Given the description of an element on the screen output the (x, y) to click on. 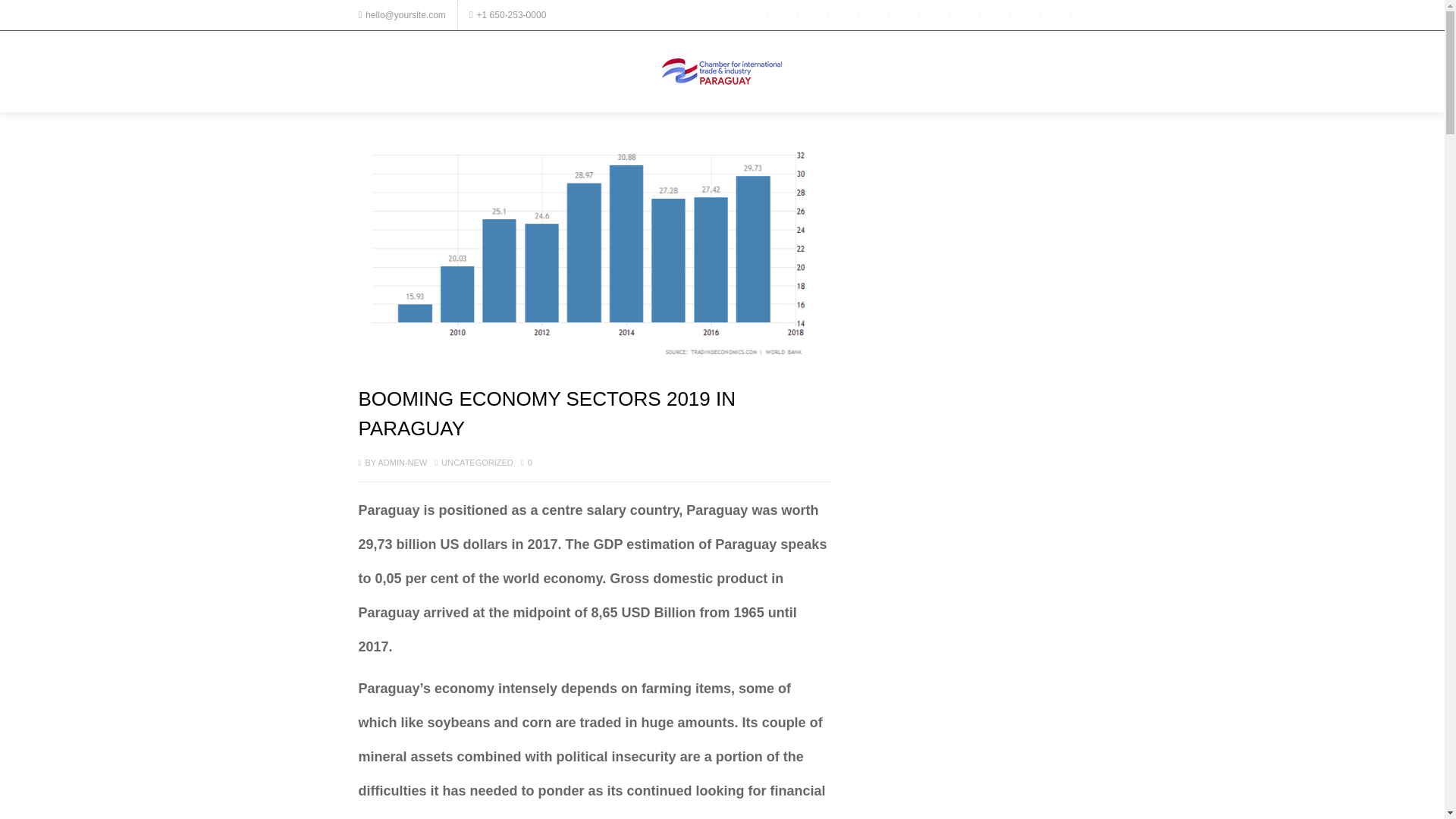
View all posts in Uncategorized (477, 461)
ADMIN-NEW (401, 461)
UNCATEGORIZED (477, 461)
Trade Chamber Paraguay (722, 71)
Entradas de admin-new (401, 461)
0 (526, 461)
